Given the description of an element on the screen output the (x, y) to click on. 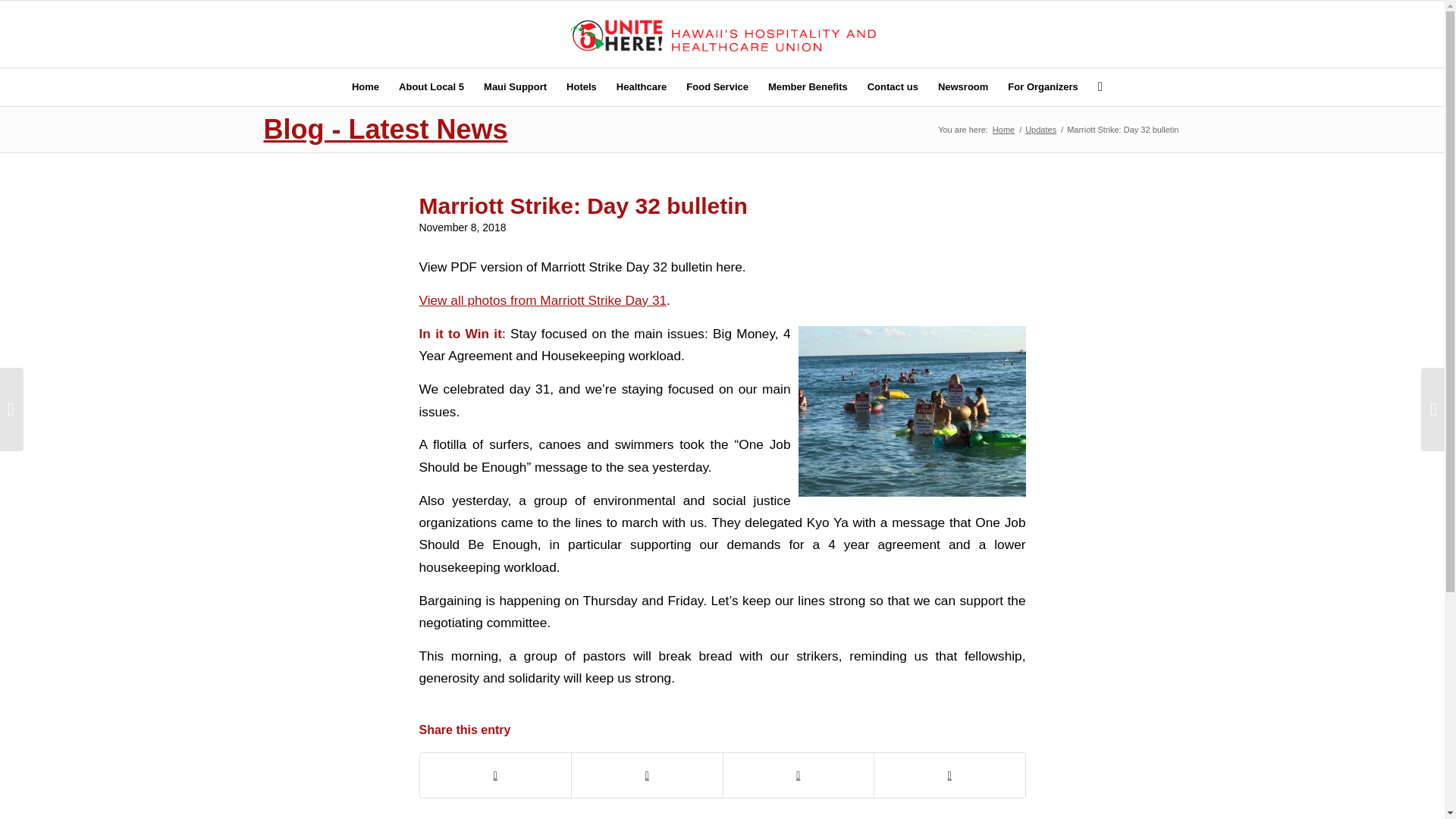
For Organizers (1042, 86)
Maui Support (515, 86)
Newsroom (962, 86)
UNITE HERE Local 5 (1003, 129)
Hotels (581, 86)
About Local 5 (431, 86)
local 5 website header (722, 33)
Permanent Link: Blog - Latest News (385, 128)
Home (365, 86)
Food Service (717, 86)
